Given the description of an element on the screen output the (x, y) to click on. 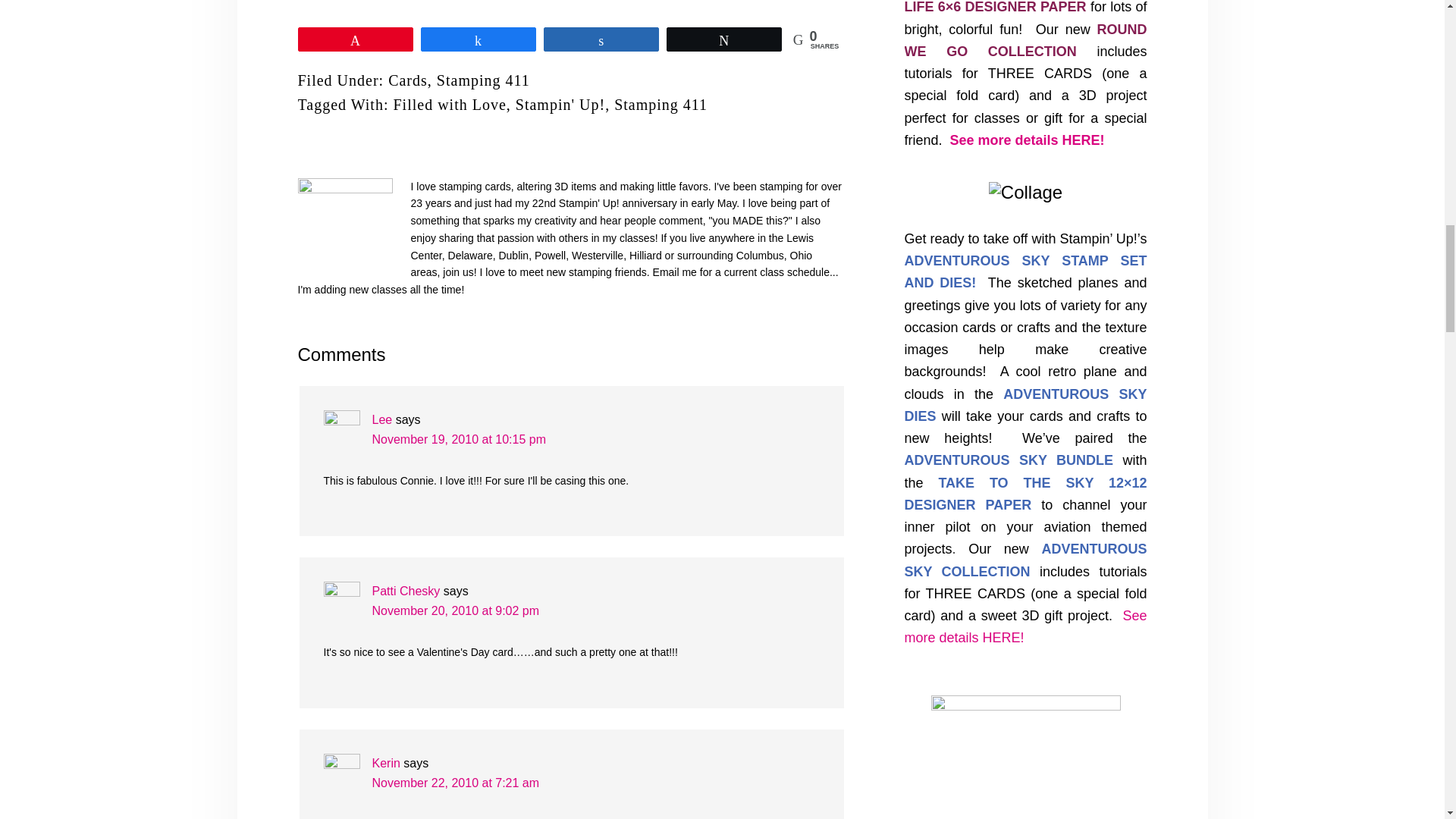
Stamping 411 (660, 104)
Kerin (384, 762)
November 19, 2010 at 10:15 pm (457, 439)
November 22, 2010 at 7:21 am (454, 782)
November 20, 2010 at 9:02 pm (454, 610)
Lee (381, 419)
Stamping 411 (482, 80)
Stampin' Up! (560, 104)
Filled with Love (449, 104)
Patti Chesky (405, 590)
